Given the description of an element on the screen output the (x, y) to click on. 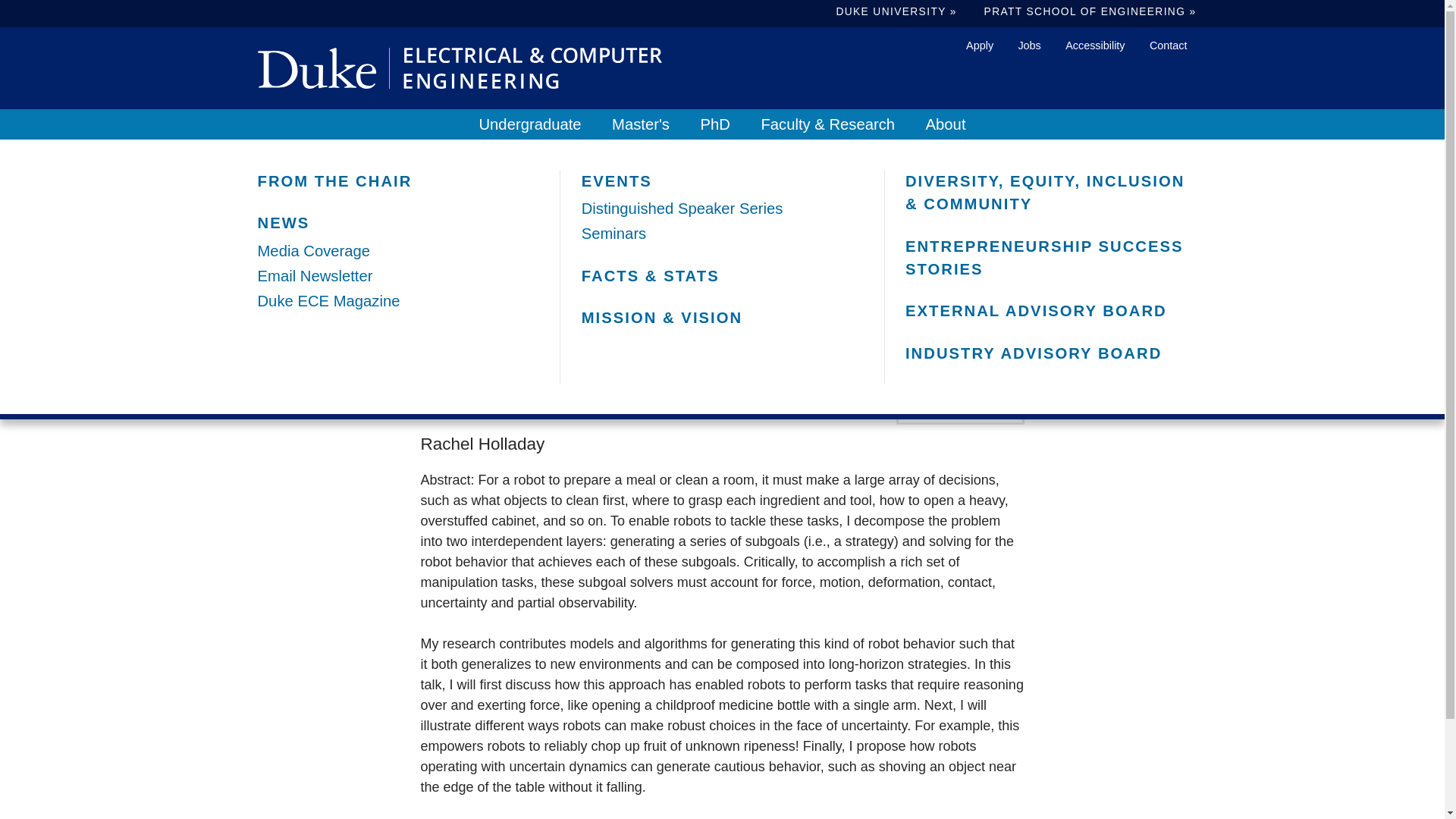
Areas of Concentration (398, 279)
Home (459, 67)
OVERVIEW (398, 190)
PHD ADMISSIONS (721, 190)
ACADEMIC CURRICULAR GROUPS (398, 286)
Minor in ECE (398, 330)
Where Our Students Go (721, 237)
Concentration in Machine Learning (398, 304)
FOR APPLICANTS (721, 184)
